Given the description of an element on the screen output the (x, y) to click on. 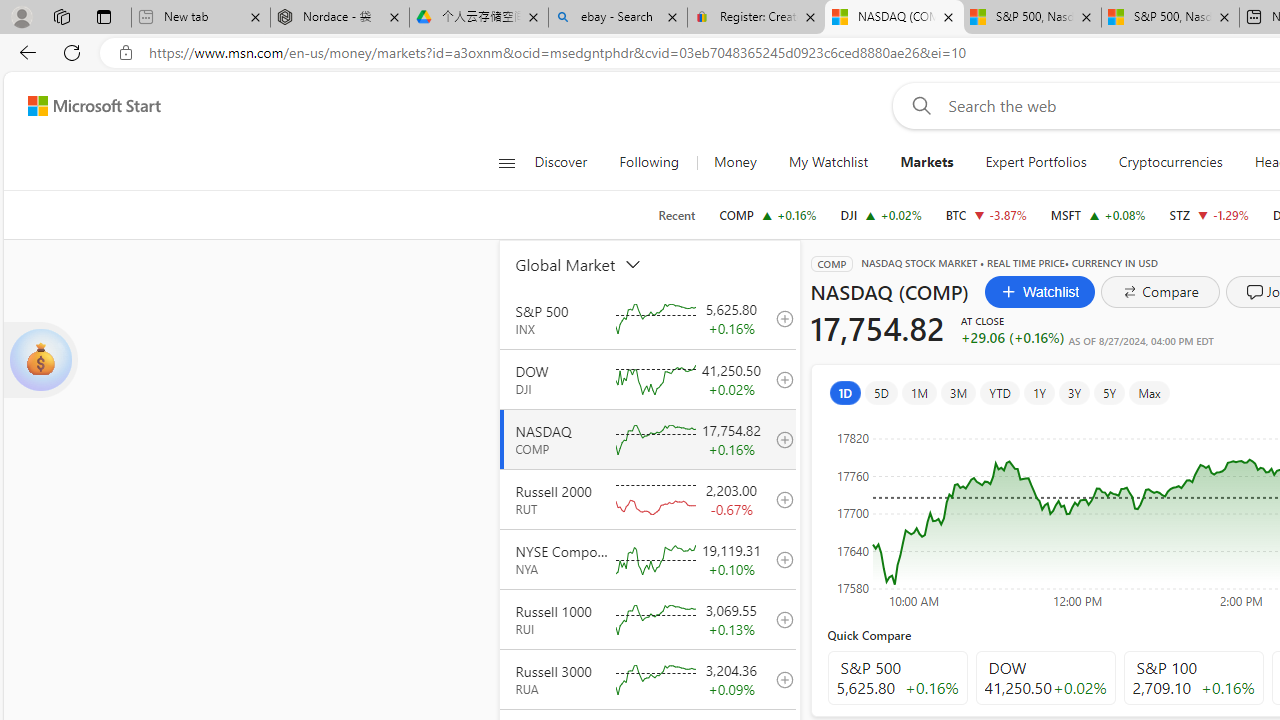
Watchlist (1039, 291)
Open navigation menu (506, 162)
MSFT MICROSOFT CORPORATION increase 413.84 +0.35 +0.08% (1098, 214)
New tab - Sleeping (200, 17)
Markets (926, 162)
Skip to content (86, 105)
S&P 500, Nasdaq end lower, weighed by Nvidia dip | Watch (1170, 17)
1D (845, 392)
Max (1148, 392)
